Given the description of an element on the screen output the (x, y) to click on. 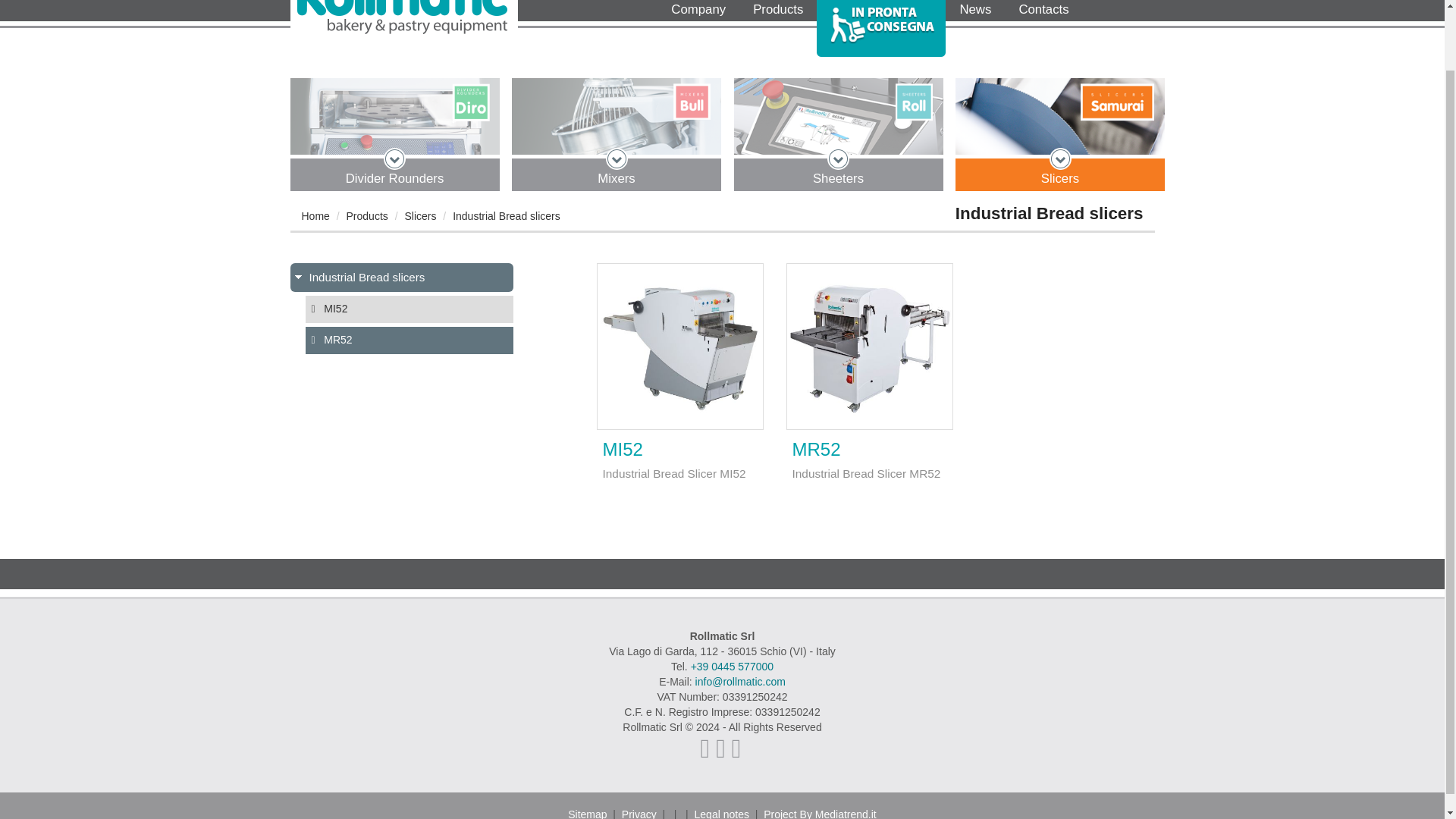
Company (698, 12)
Products (777, 12)
Contacts (1042, 12)
News (974, 12)
